Given the description of an element on the screen output the (x, y) to click on. 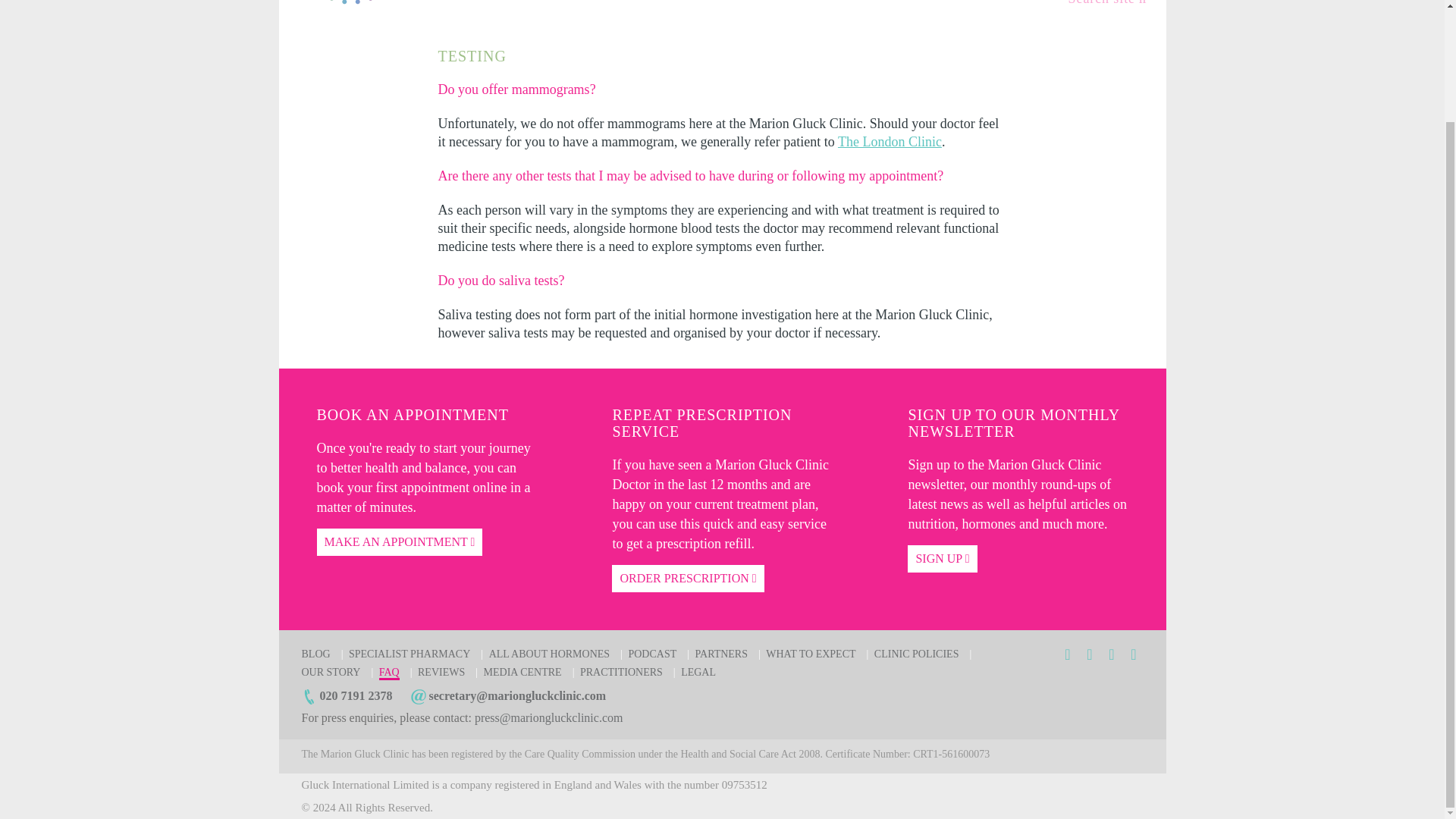
Search site (1107, 2)
